Given the description of an element on the screen output the (x, y) to click on. 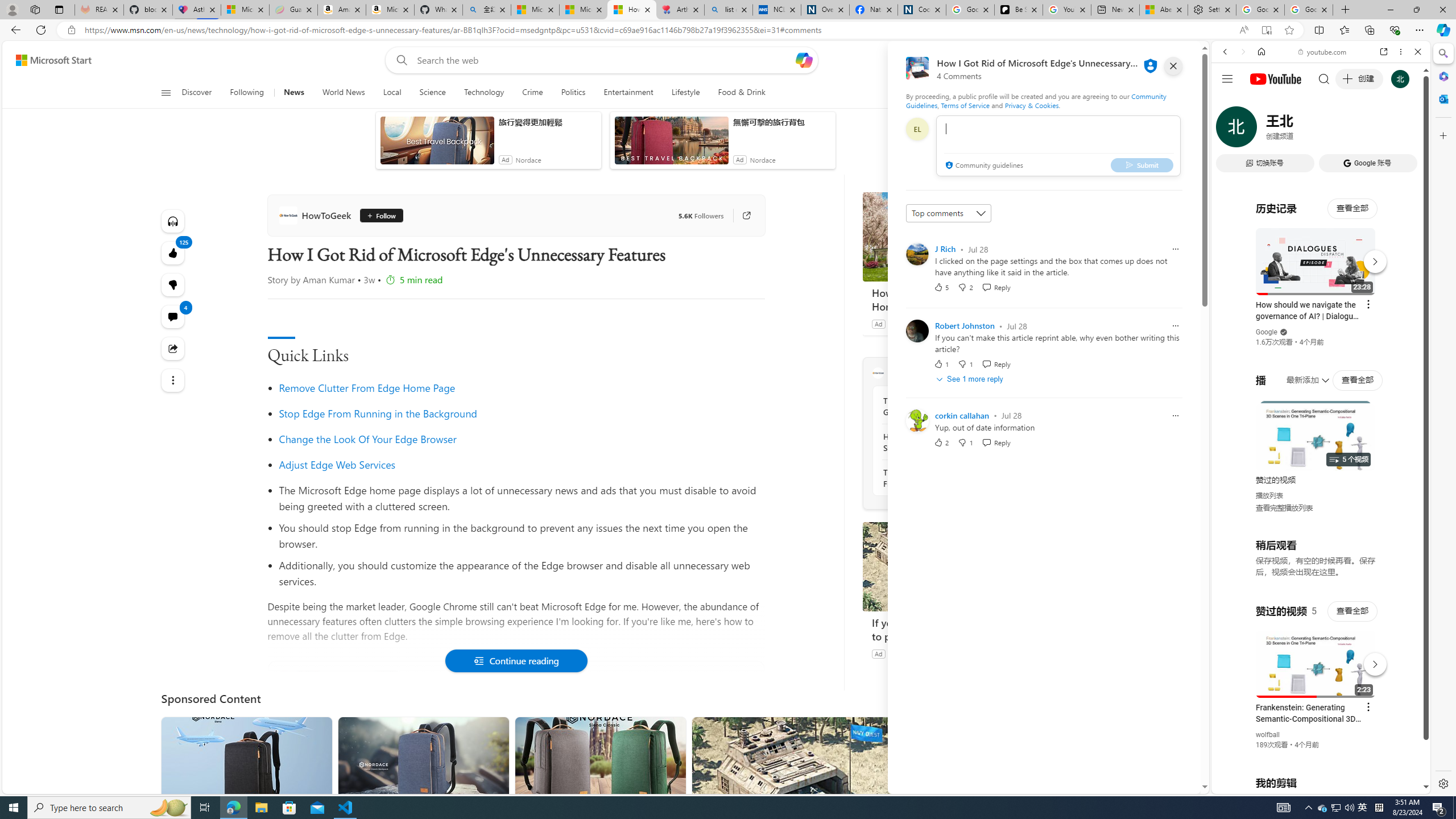
Community guidelines (983, 165)
IMAGES (1262, 130)
Visit HowToGeek website (1018, 372)
Copilot (Ctrl+Shift+.) (1442, 29)
Politics (572, 92)
Search (1442, 53)
Community Guidelines (1035, 100)
corkin callahan (962, 415)
App bar (728, 29)
J Rich (945, 248)
Microsoft Start (53, 60)
